Given the description of an element on the screen output the (x, y) to click on. 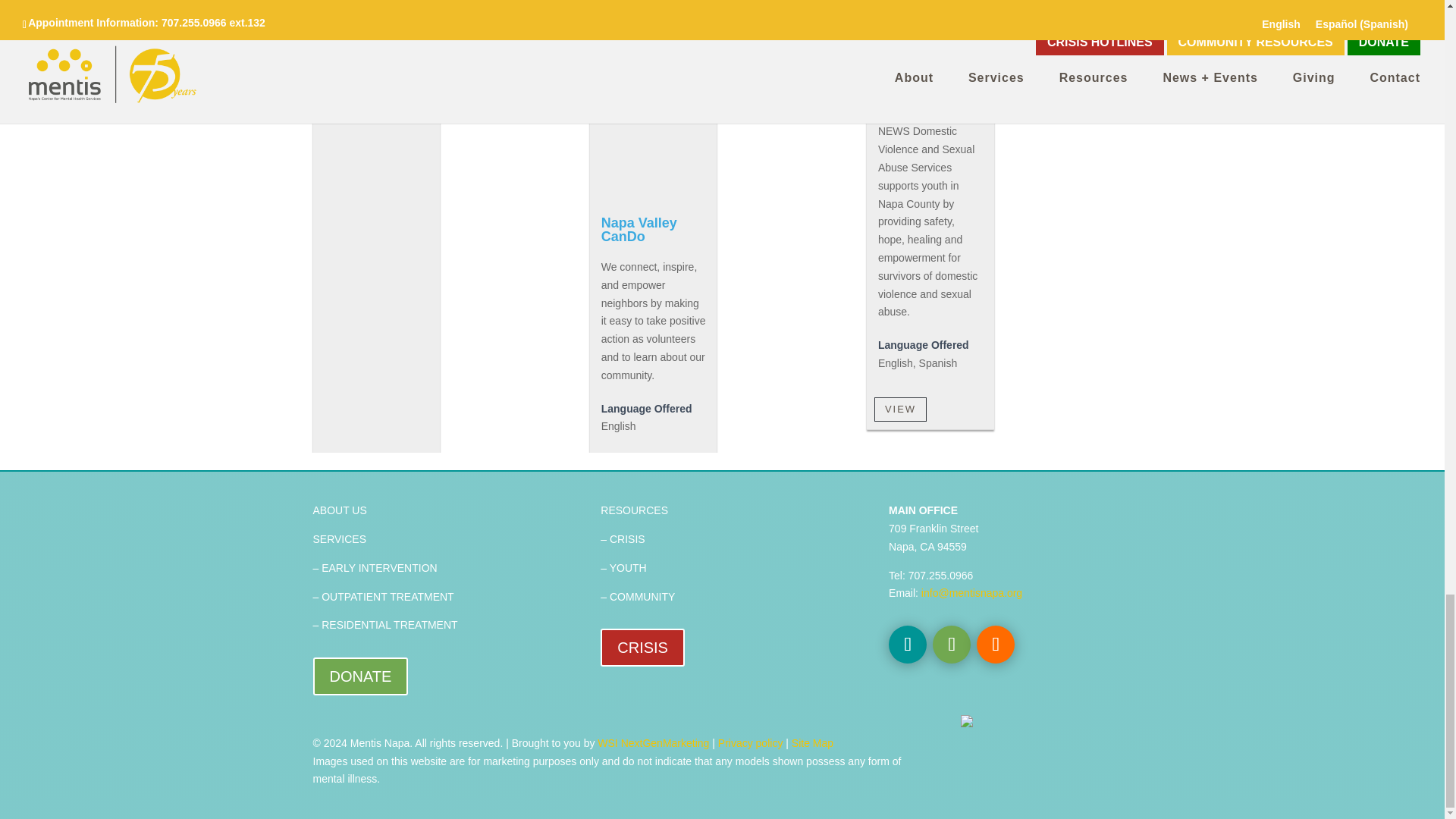
NCOE Logo (376, 0)
